Given the description of an element on the screen output the (x, y) to click on. 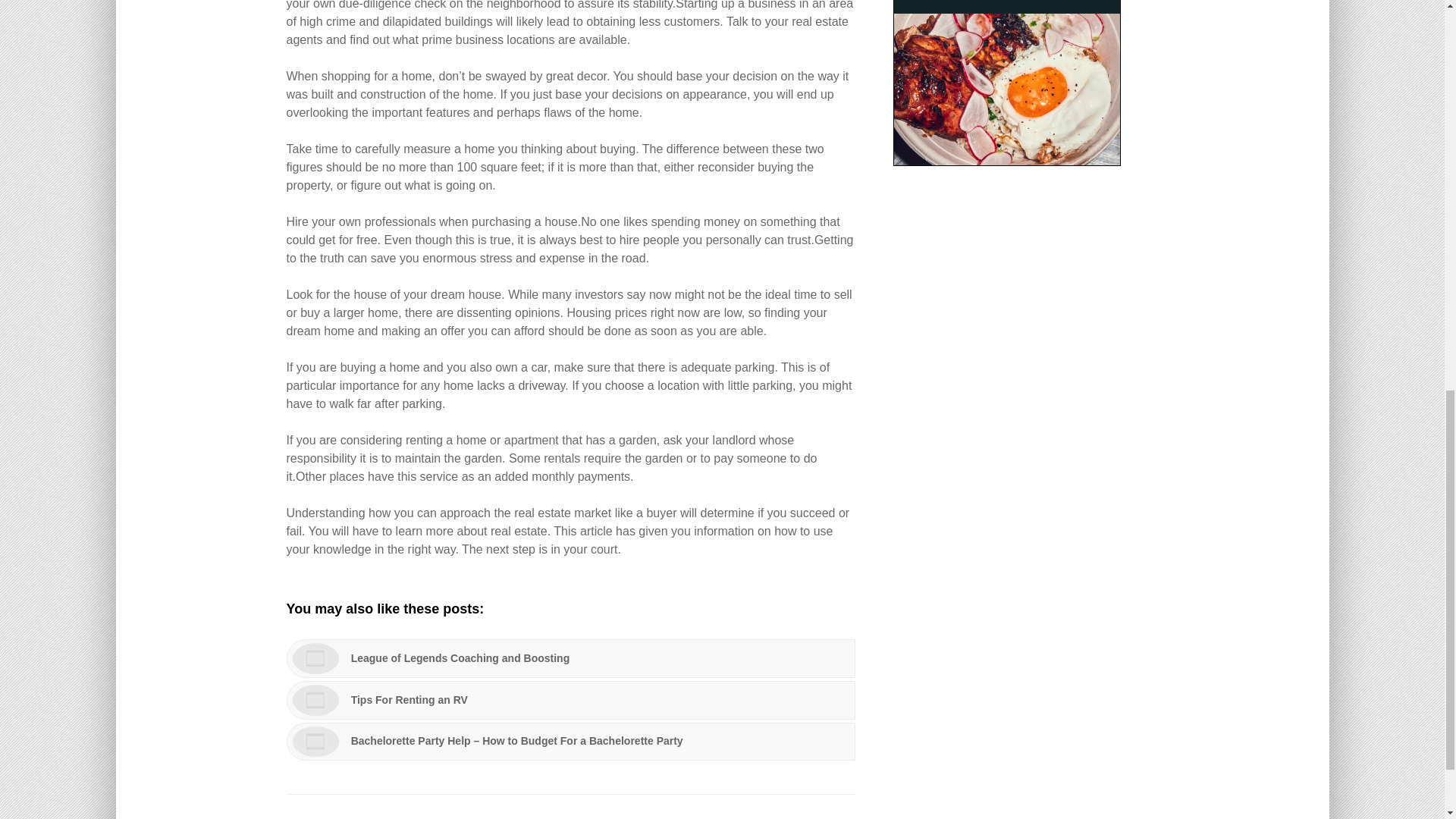
Tips For Renting an RV (571, 699)
League of Legends Coaching and Boosting (571, 658)
League of Legends Coaching and Boosting (571, 658)
Tips For Renting an RV (571, 699)
